Given the description of an element on the screen output the (x, y) to click on. 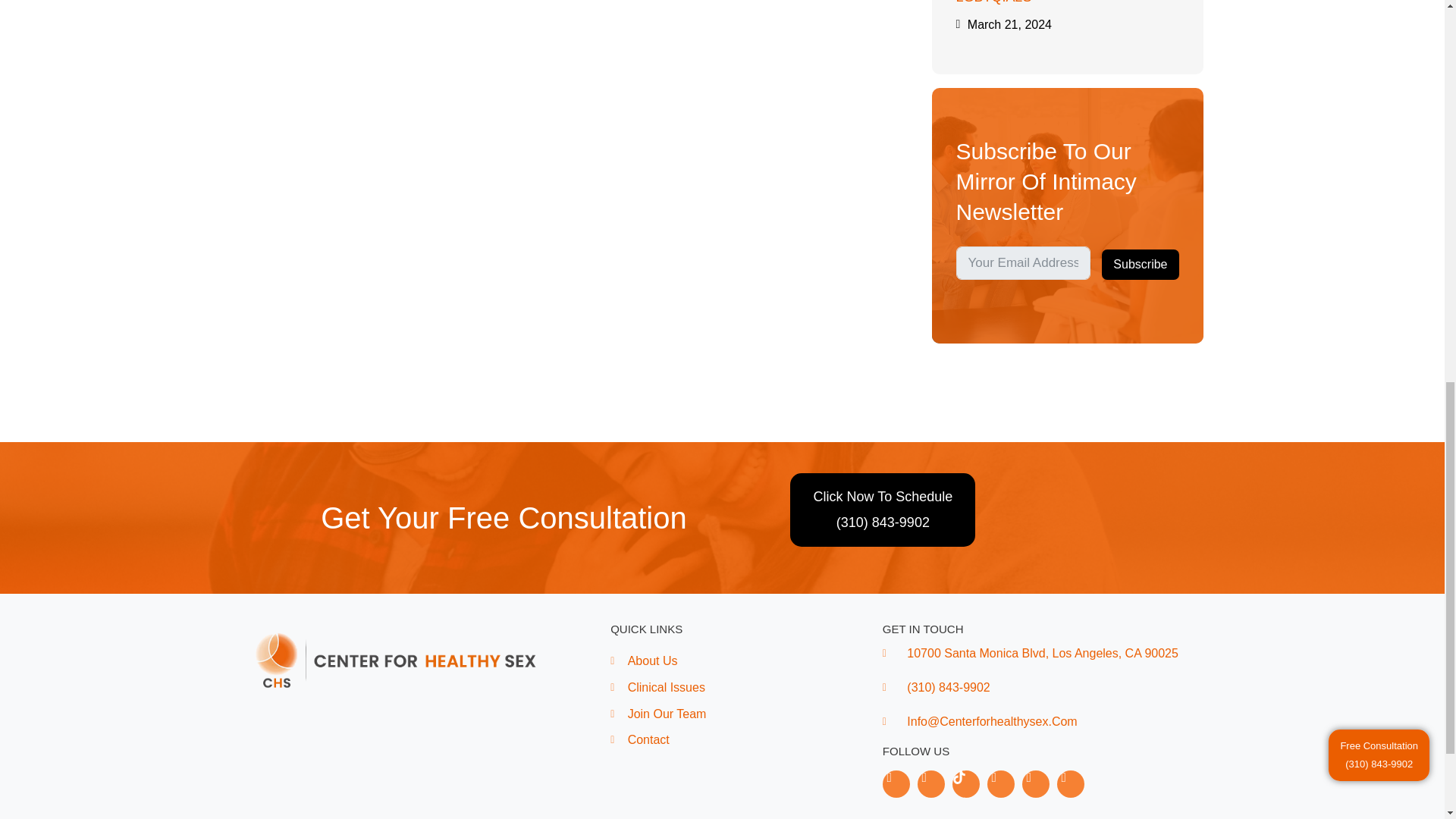
Contact (746, 739)
Join Our Team (746, 713)
Clinical Issues (746, 687)
10700 Santa Monica Blvd, Los Angeles, CA 90025 (1043, 653)
About Us (746, 661)
Facebook (896, 783)
Subscribe (1139, 264)
